Given the description of an element on the screen output the (x, y) to click on. 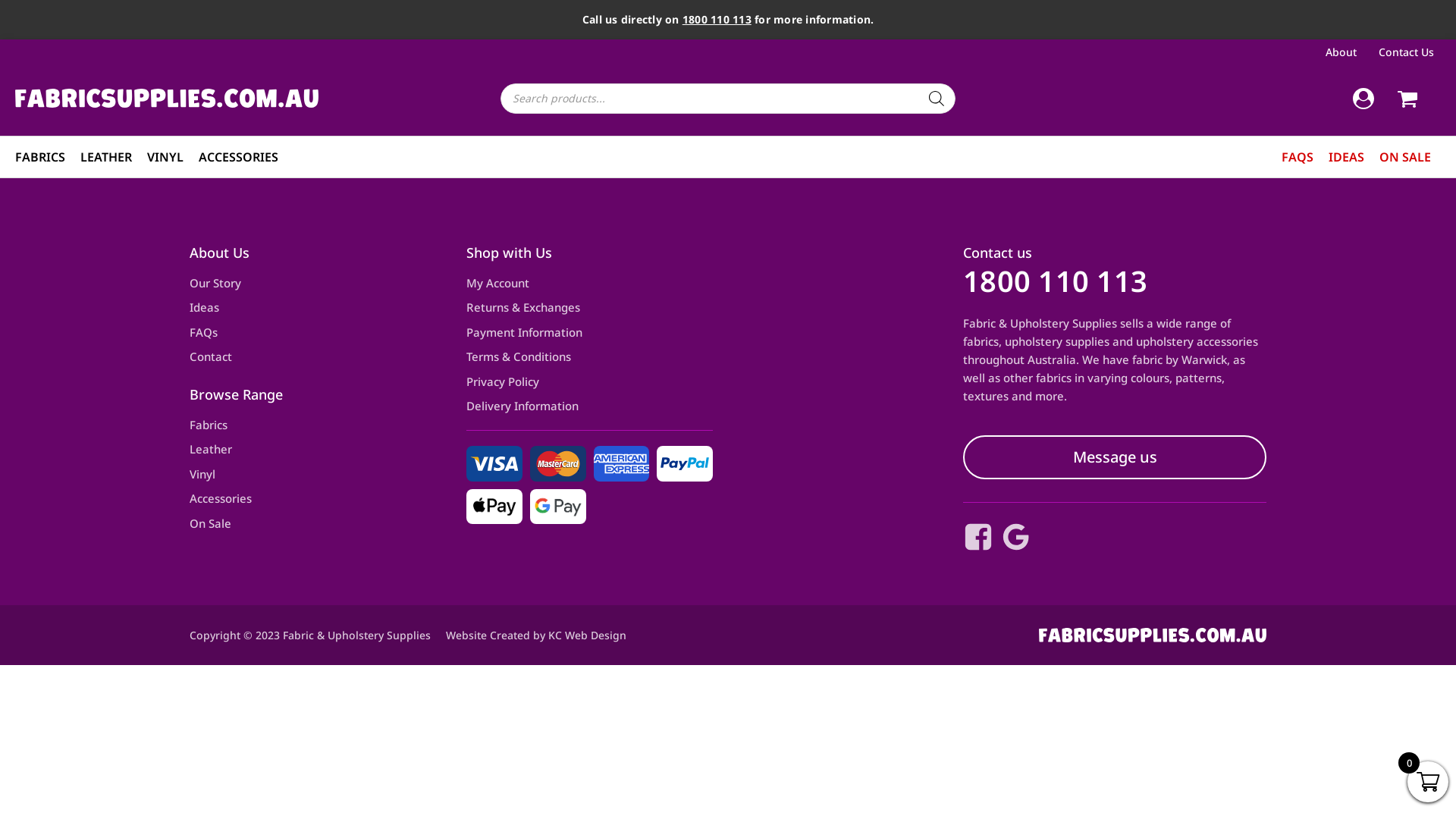
Contact Element type: text (210, 356)
IDEAS Element type: text (1346, 156)
On Sale Element type: text (210, 523)
KC Web Design Element type: text (587, 634)
Payment Information Element type: text (524, 332)
Fabrics Element type: text (208, 424)
Privacy Policy Element type: text (502, 381)
Contact Us Element type: text (1407, 51)
Message us Element type: text (1114, 457)
Returns & Exchanges Element type: text (523, 307)
1800 110 113 Element type: text (716, 19)
ON SALE Element type: text (1404, 156)
ACCESSORIES Element type: text (238, 156)
Vinyl Element type: text (202, 474)
Accessories Element type: text (220, 498)
FABRICS Element type: text (40, 156)
Ideas Element type: text (204, 307)
VINYL Element type: text (165, 156)
Delivery Information Element type: text (522, 405)
About Element type: text (1342, 51)
Our Story Element type: text (215, 282)
Leather Element type: text (210, 449)
Terms & Conditions Element type: text (518, 356)
1800 110 113 Element type: text (1055, 281)
LEATHER Element type: text (105, 156)
FAQS Element type: text (1297, 156)
My Account Element type: text (497, 282)
FAQs Element type: text (203, 332)
